Given the description of an element on the screen output the (x, y) to click on. 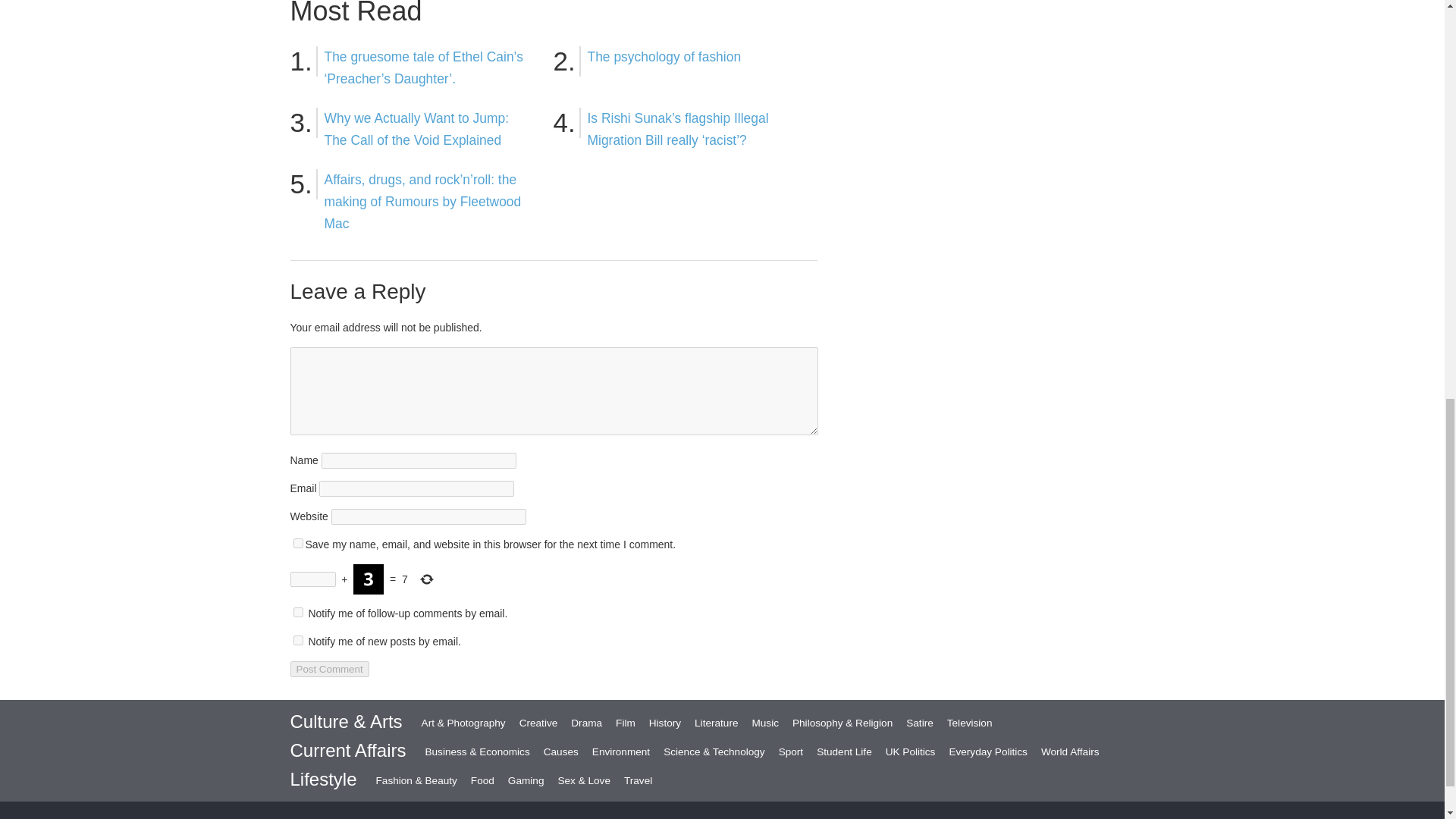
The psychology of fashion (663, 56)
Why we Actually Want to Jump: The Call of the Void Explained (416, 129)
Post Comment (328, 668)
yes (297, 542)
subscribe (297, 640)
subscribe (297, 612)
Why we Actually Want to Jump: The Call of the Void Explained (416, 129)
The psychology of fashion (663, 56)
Post Comment (328, 668)
